Given the description of an element on the screen output the (x, y) to click on. 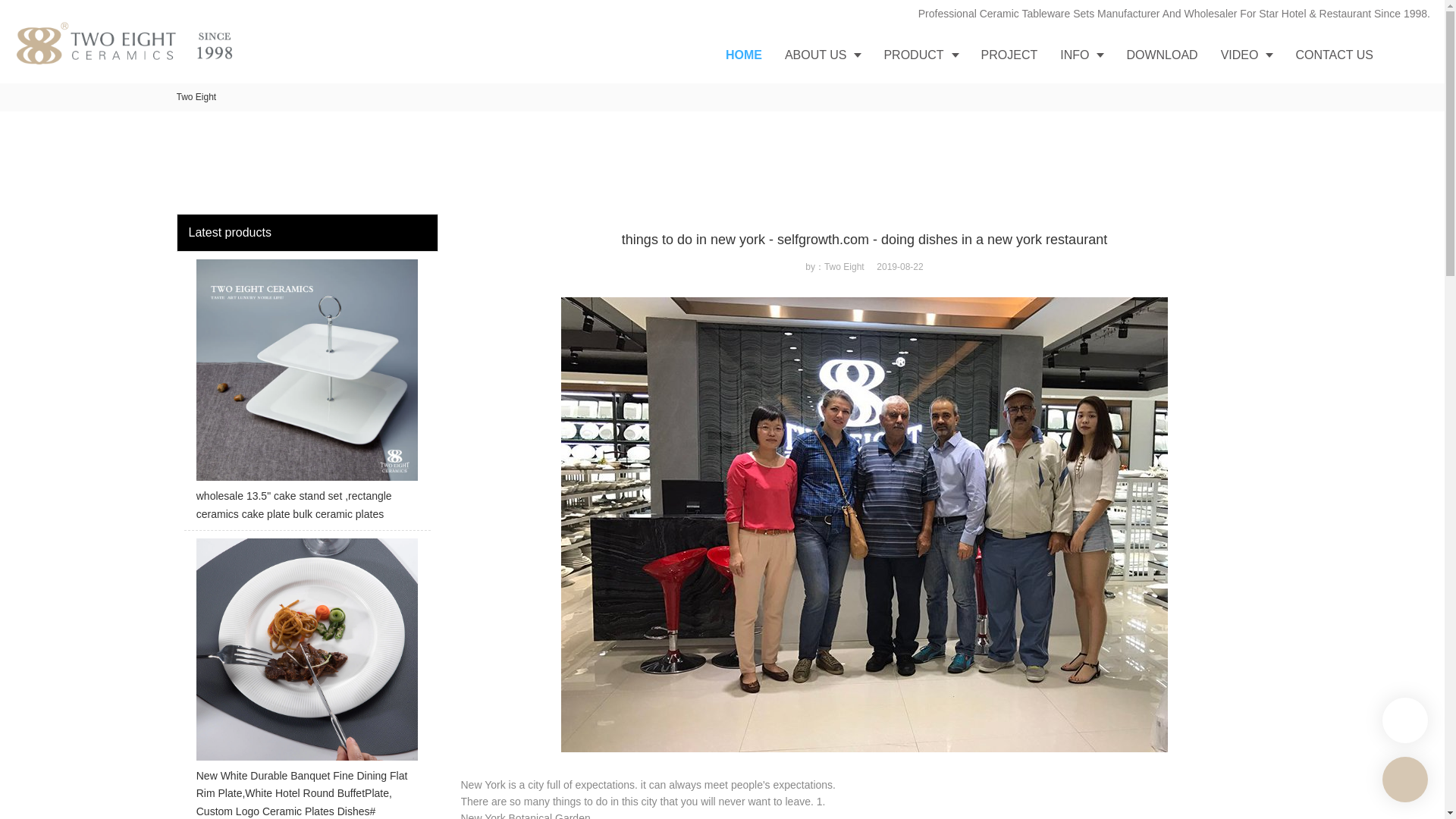
PROJECT (1009, 55)
INFO (1081, 55)
PRODUCT (920, 55)
DOWNLOAD (1161, 55)
Two Eight (195, 96)
VIDEO (1246, 55)
ABOUT US (822, 55)
CONTACT US (1334, 55)
HOME (743, 55)
